Given the description of an element on the screen output the (x, y) to click on. 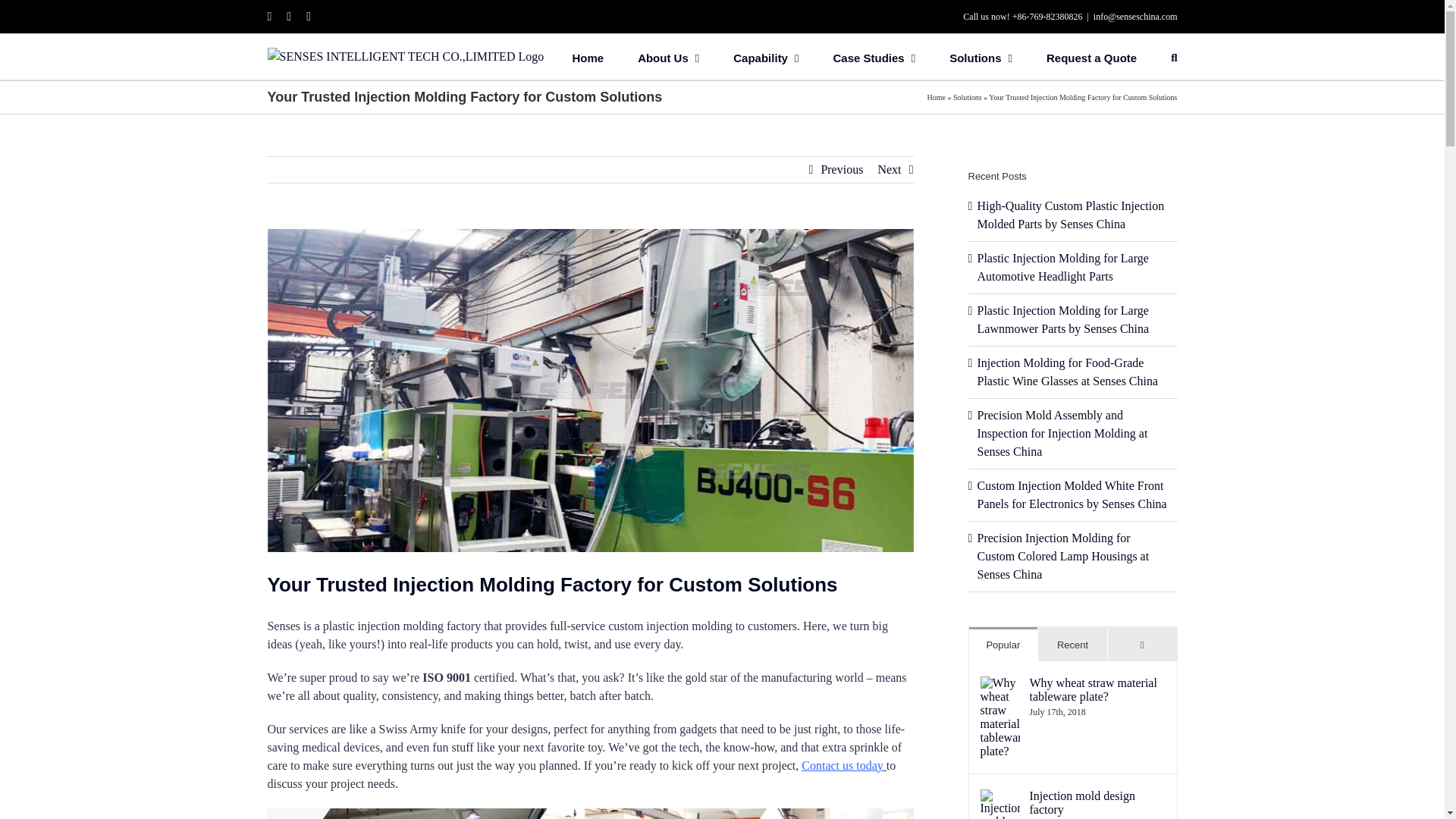
Previous (842, 169)
Next (889, 169)
Solutions (967, 97)
Capability (765, 56)
Case Studies (873, 56)
Request a Quote (1091, 56)
Solutions (980, 56)
Contact us today (842, 765)
Home (935, 97)
About Us (667, 56)
